Given the description of an element on the screen output the (x, y) to click on. 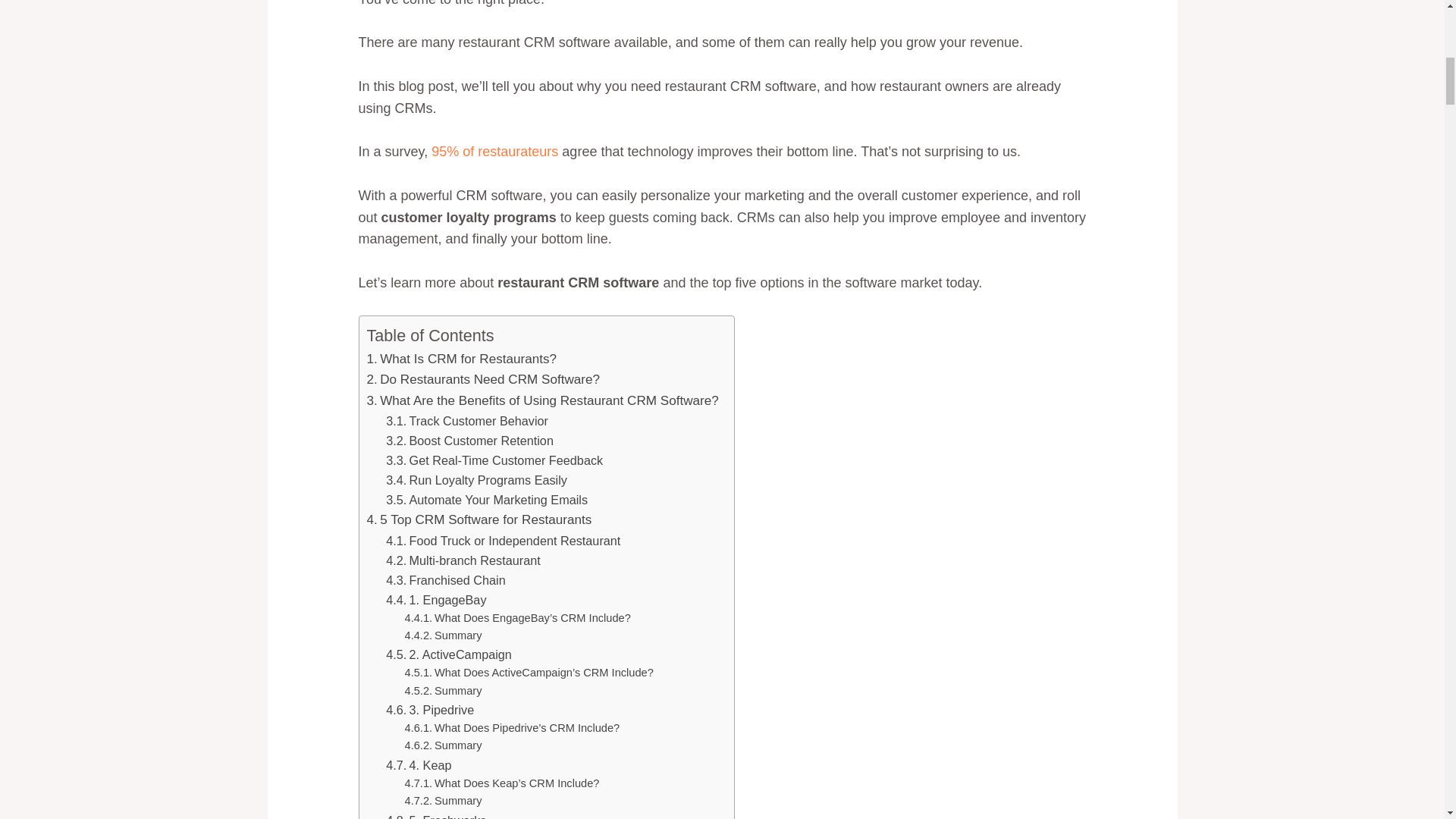
What Are the Benefits of Using Restaurant CRM Software? (542, 400)
1. EngageBay (435, 599)
Food Truck or Independent Restaurant (502, 540)
Get Real-Time Customer Feedback (493, 460)
Franchised Chain (445, 579)
Automate Your Marketing Emails (486, 499)
Multi-branch Restaurant (462, 560)
What Is CRM for Restaurants? (461, 358)
Do Restaurants Need CRM Software? (482, 379)
